Given the description of an element on the screen output the (x, y) to click on. 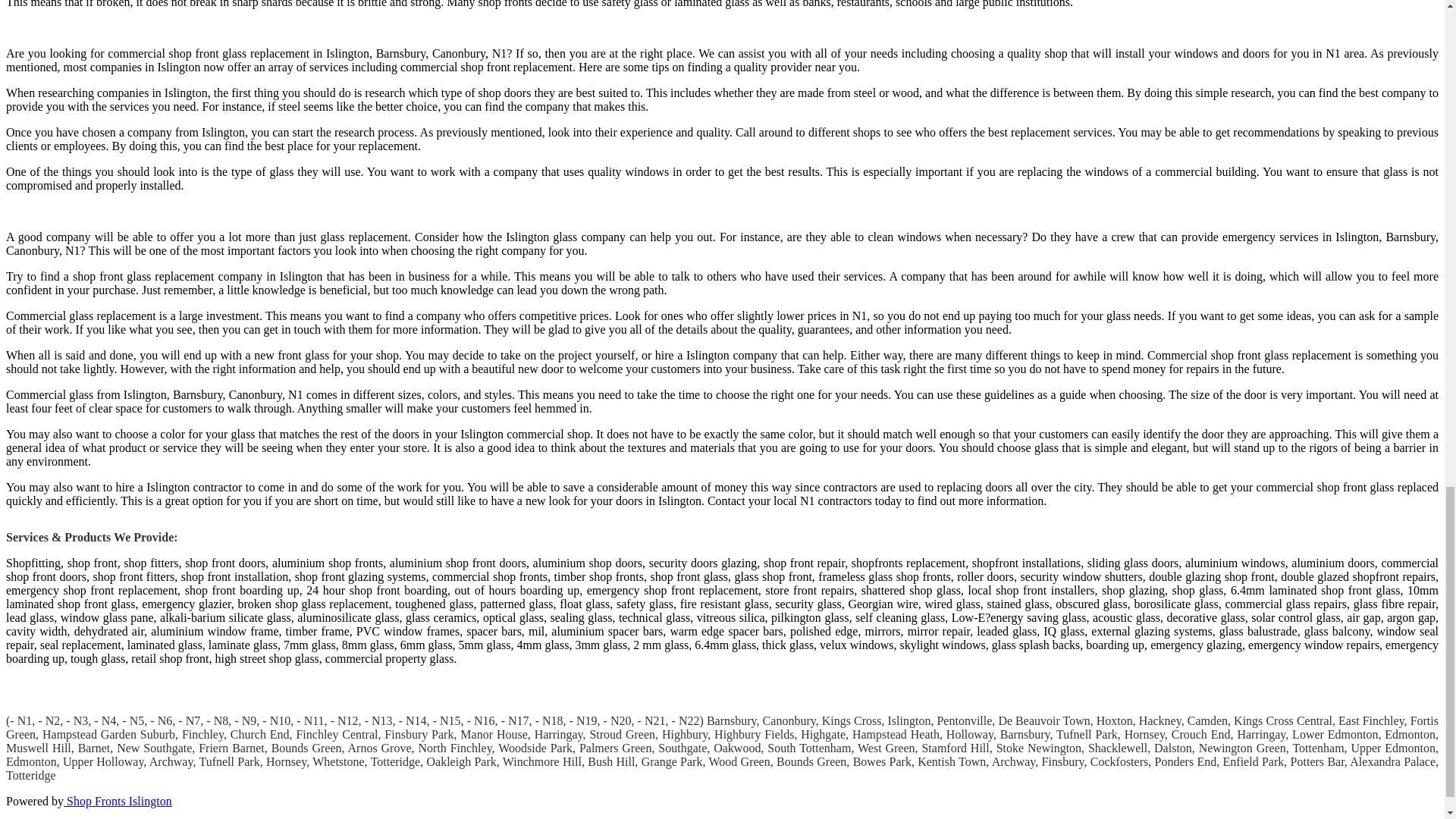
Shop Fronts Islington (117, 800)
